Given the description of an element on the screen output the (x, y) to click on. 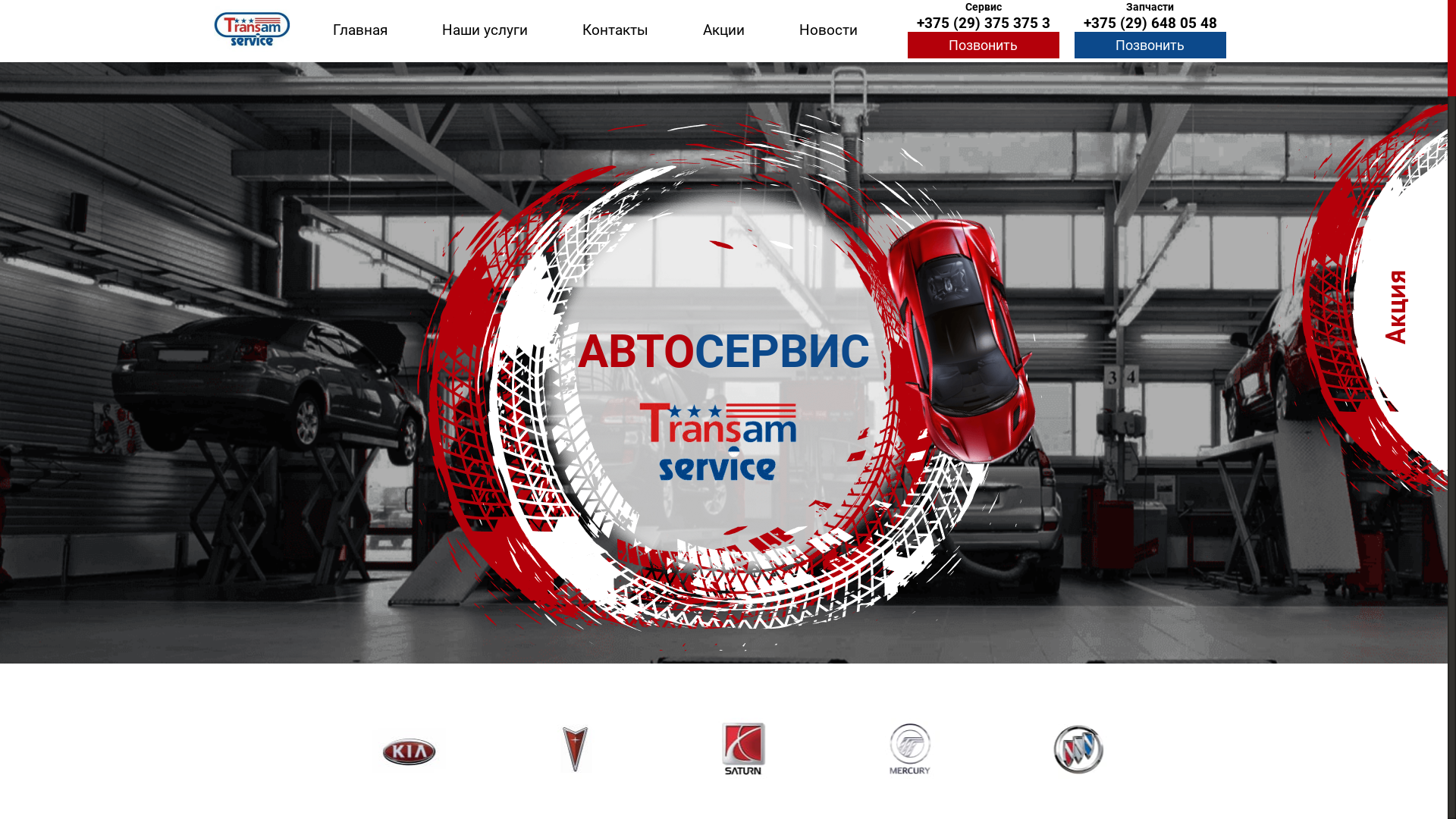
+375 (29) 648 05 48 Element type: text (1150, 19)
+375 (29) 375 375 3 Element type: text (983, 19)
